Given the description of an element on the screen output the (x, y) to click on. 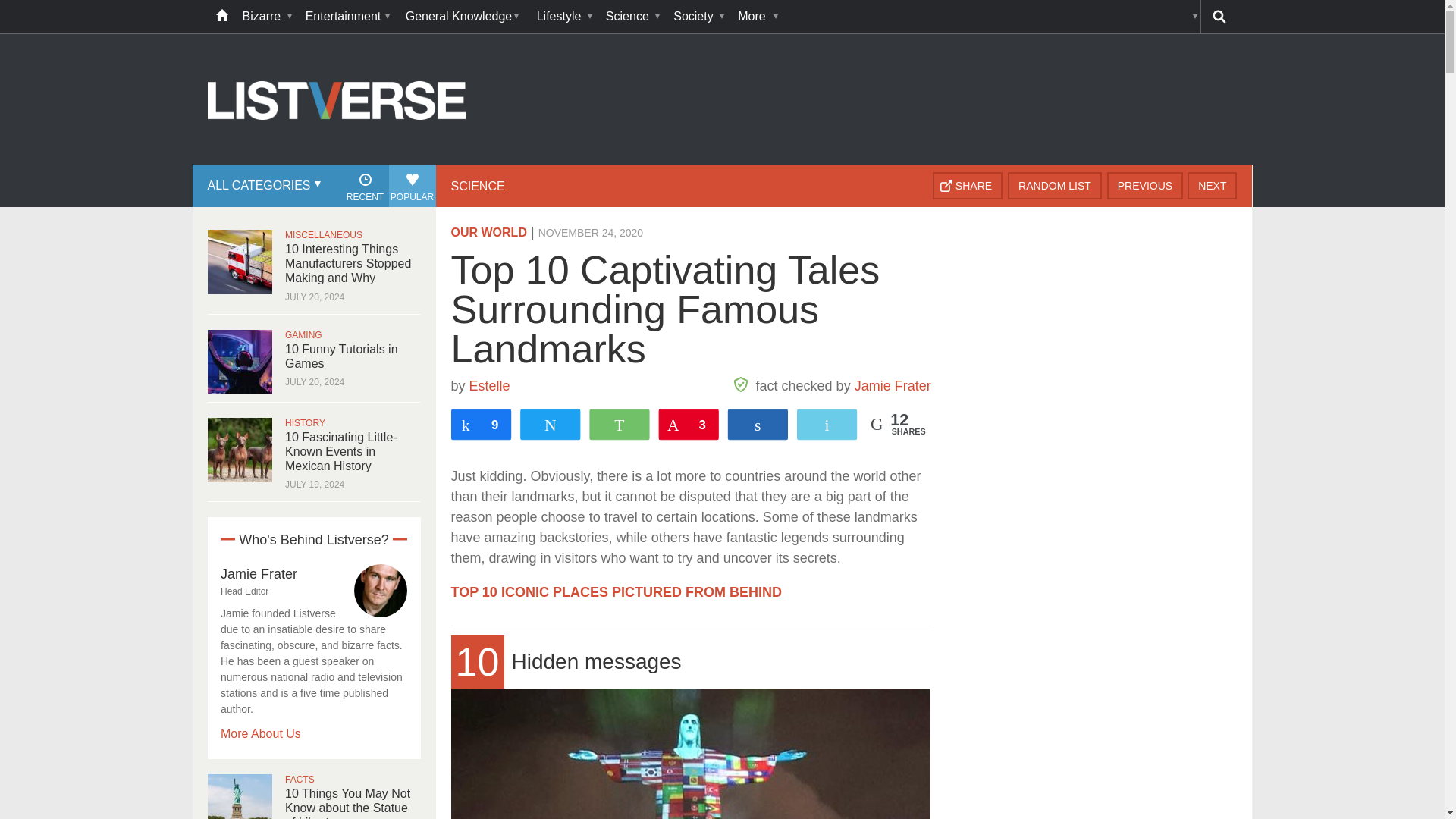
General Knowledge (462, 16)
Recent (364, 185)
Entertainment (347, 16)
Science (631, 16)
Go Home (221, 16)
Society (697, 16)
Popular (411, 185)
All Categories (262, 185)
Go to Home (336, 162)
Lifestyle (563, 16)
Bizarre (266, 16)
More (756, 16)
Share (968, 185)
